Given the description of an element on the screen output the (x, y) to click on. 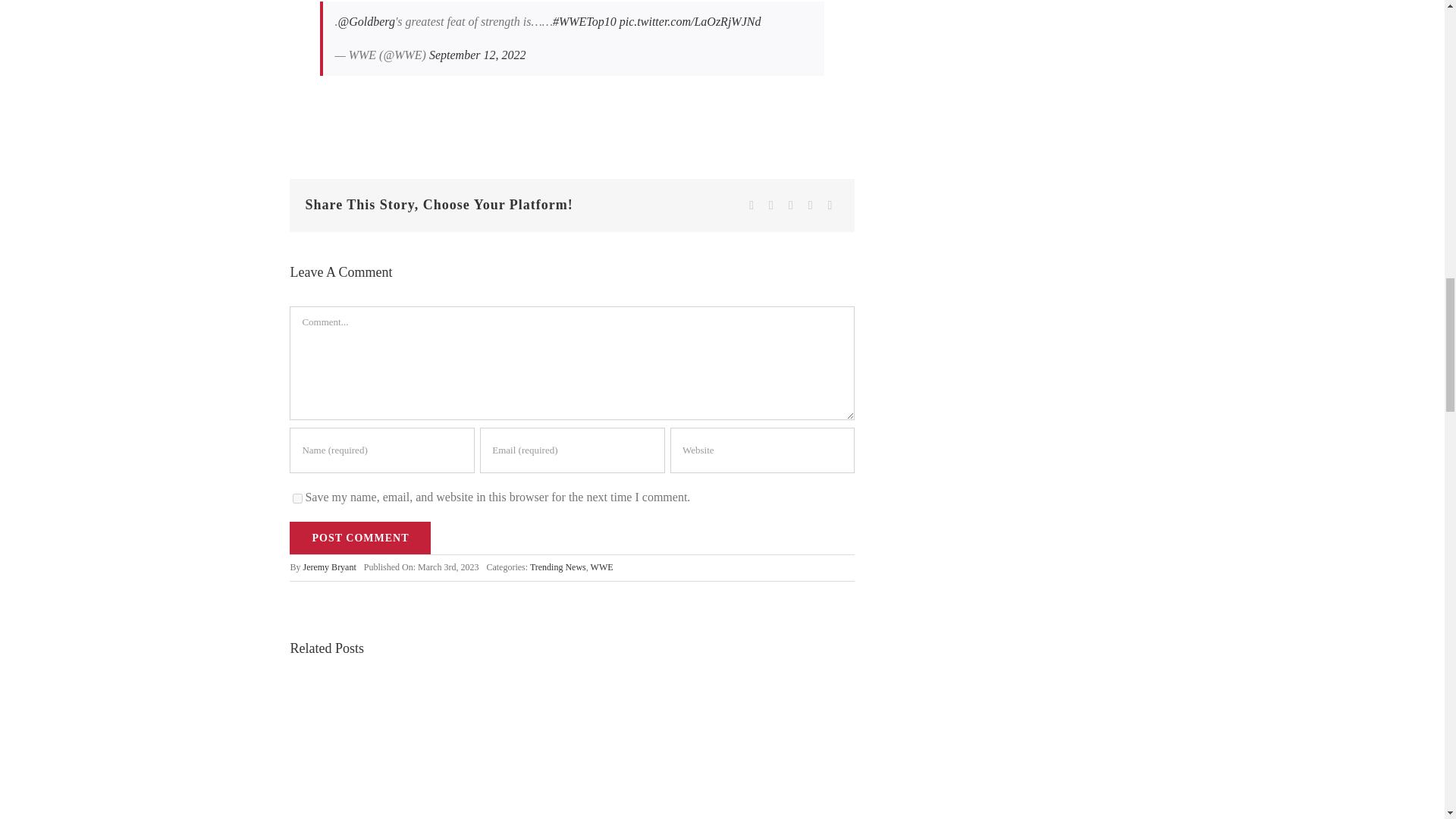
September 12, 2022 (477, 54)
Trending News (557, 566)
Twitter (770, 205)
Tumblr (810, 205)
Posts by Jeremy Bryant (328, 566)
Facebook (751, 205)
yes (297, 498)
Post Comment (359, 537)
Reddit (790, 205)
Post Comment (359, 537)
